Given the description of an element on the screen output the (x, y) to click on. 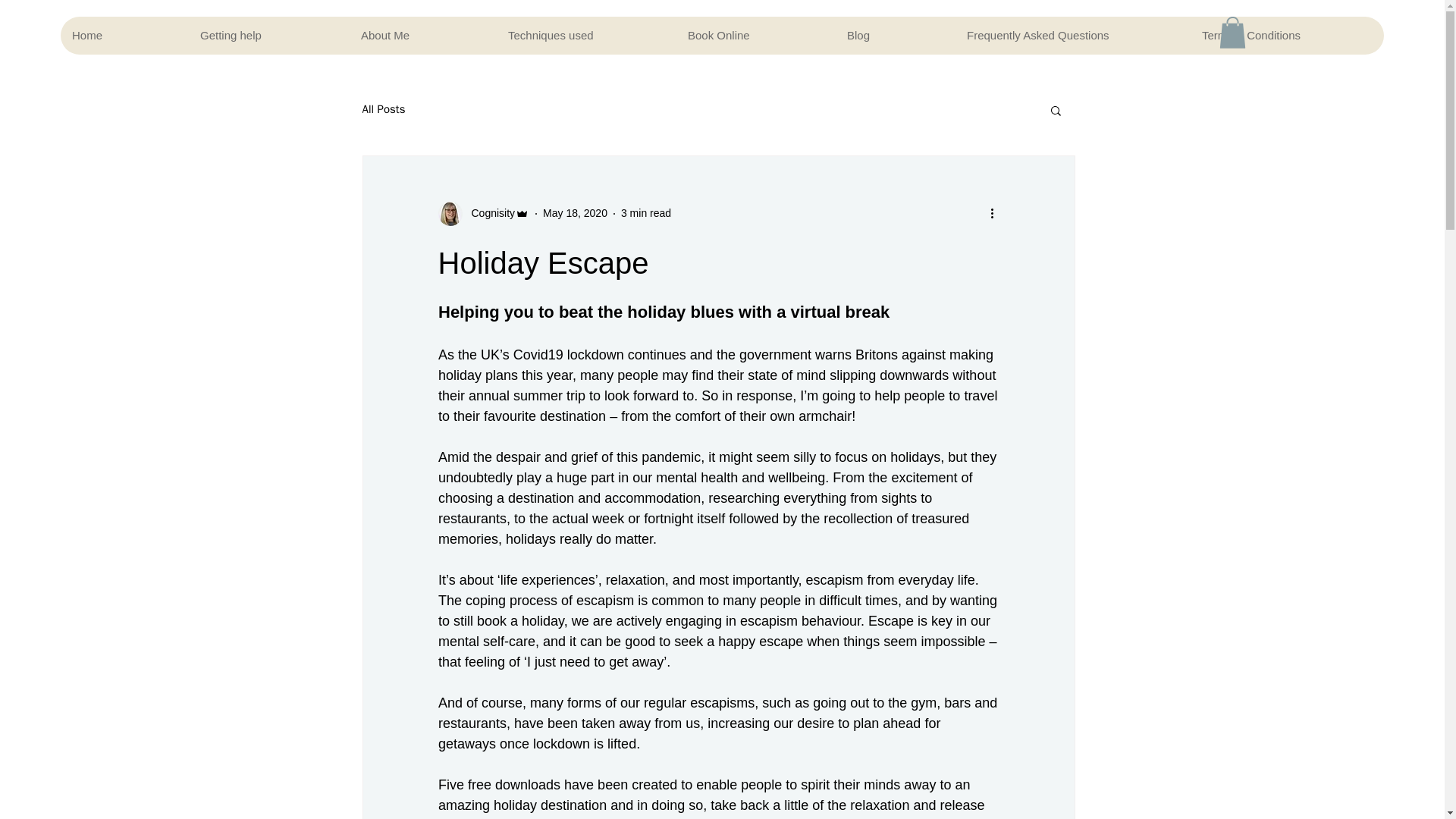
About Me (422, 35)
May 18, 2020 (575, 213)
Frequently Asked Questions (1072, 35)
All Posts (384, 109)
Blog (894, 35)
Getting help (268, 35)
Home (124, 35)
3 min read (646, 213)
Book Online (754, 35)
Cognisity (483, 213)
Cognisity (489, 213)
Techniques used (585, 35)
